Given the description of an element on the screen output the (x, y) to click on. 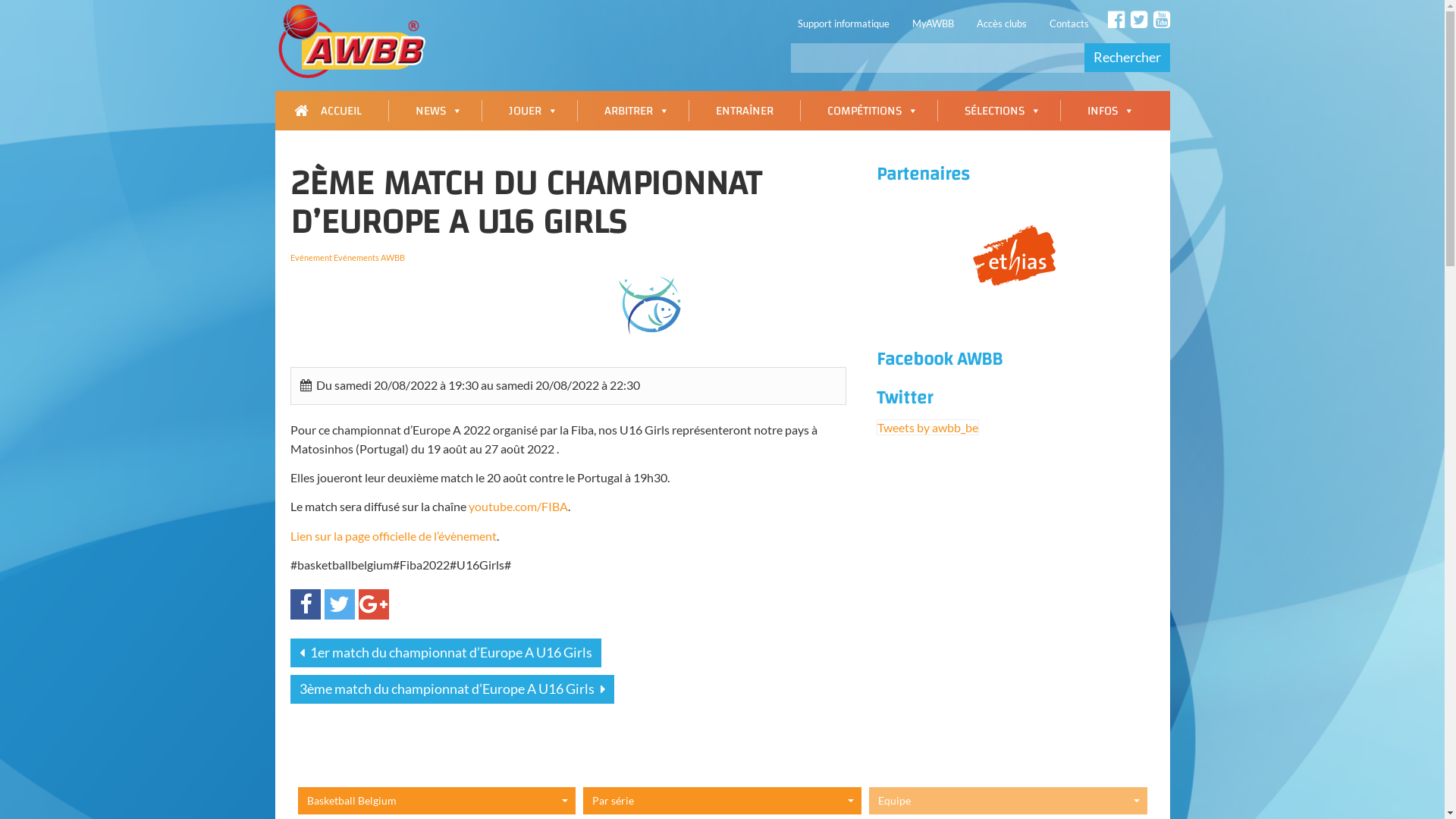
Rechercher Element type: text (1127, 57)
Partager sur Facebook Element type: hover (304, 604)
MyAWBB Element type: text (932, 23)
Partager sur Twitter Element type: hover (339, 604)
Support informatique Element type: text (842, 23)
youtube.com/FIBA Element type: text (517, 505)
Ethias logo 2017 300x300 Element type: hover (1015, 254)
NEWS Element type: text (434, 110)
Equipe Element type: text (1008, 800)
Basketball Belgium Element type: text (436, 800)
Partager sur Google+ Element type: hover (372, 604)
Tweets by awbb_be Element type: text (927, 427)
ACCUEIL Element type: text (330, 110)
Contacts Element type: text (1068, 23)
Logo Element type: hover (355, 49)
JOUER Element type: text (529, 110)
ARBITRER Element type: text (632, 110)
INFOS Element type: text (1106, 110)
